Given the description of an element on the screen output the (x, y) to click on. 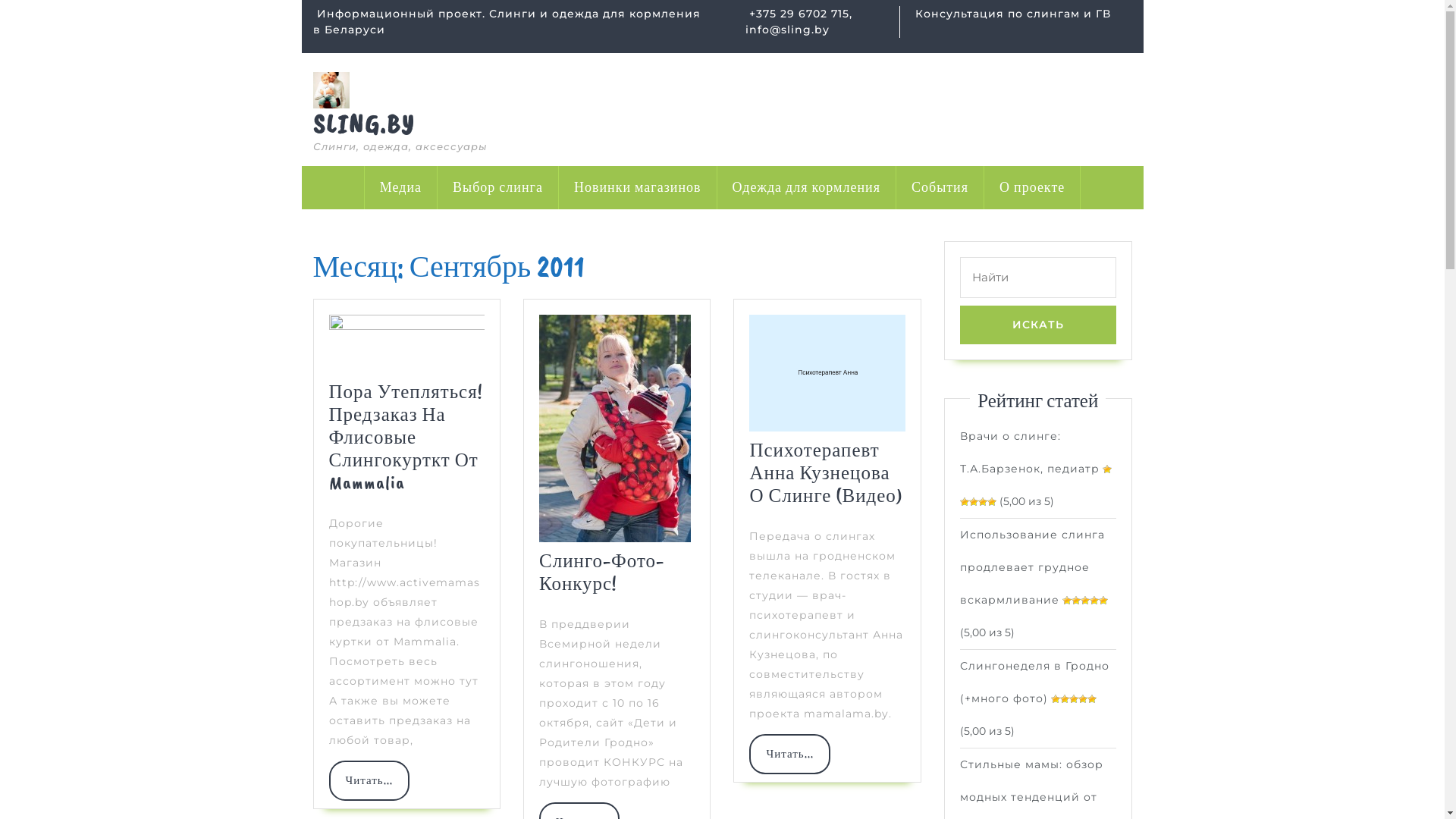
SLING.BY Element type: text (363, 123)
